Given the description of an element on the screen output the (x, y) to click on. 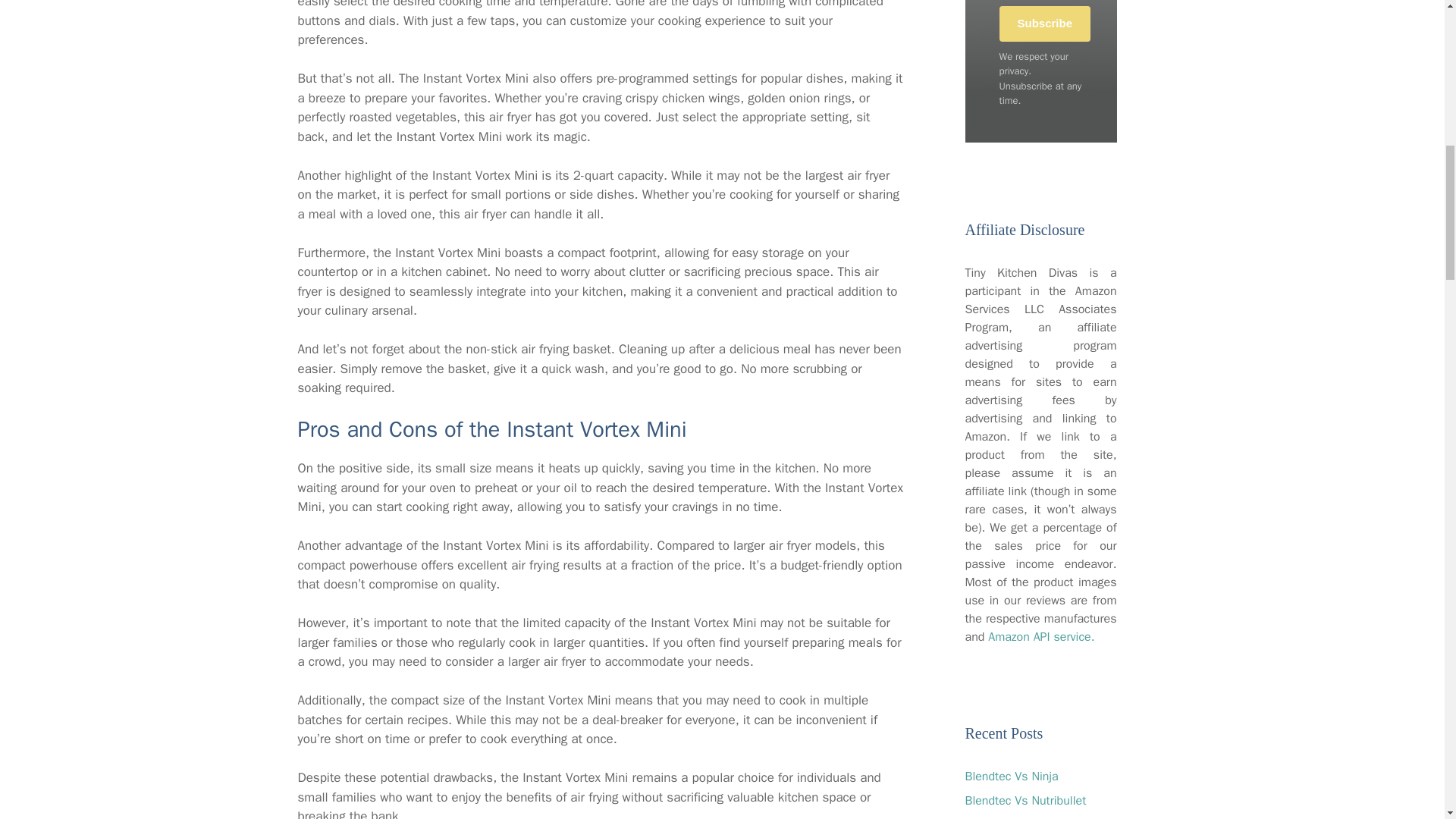
Amazon API service. (1041, 636)
Blendtec Vs Ninja (1010, 776)
Blendtec Vs Nutribullet (1024, 800)
Scroll back to top (1406, 720)
Subscribe (1044, 23)
